Given the description of an element on the screen output the (x, y) to click on. 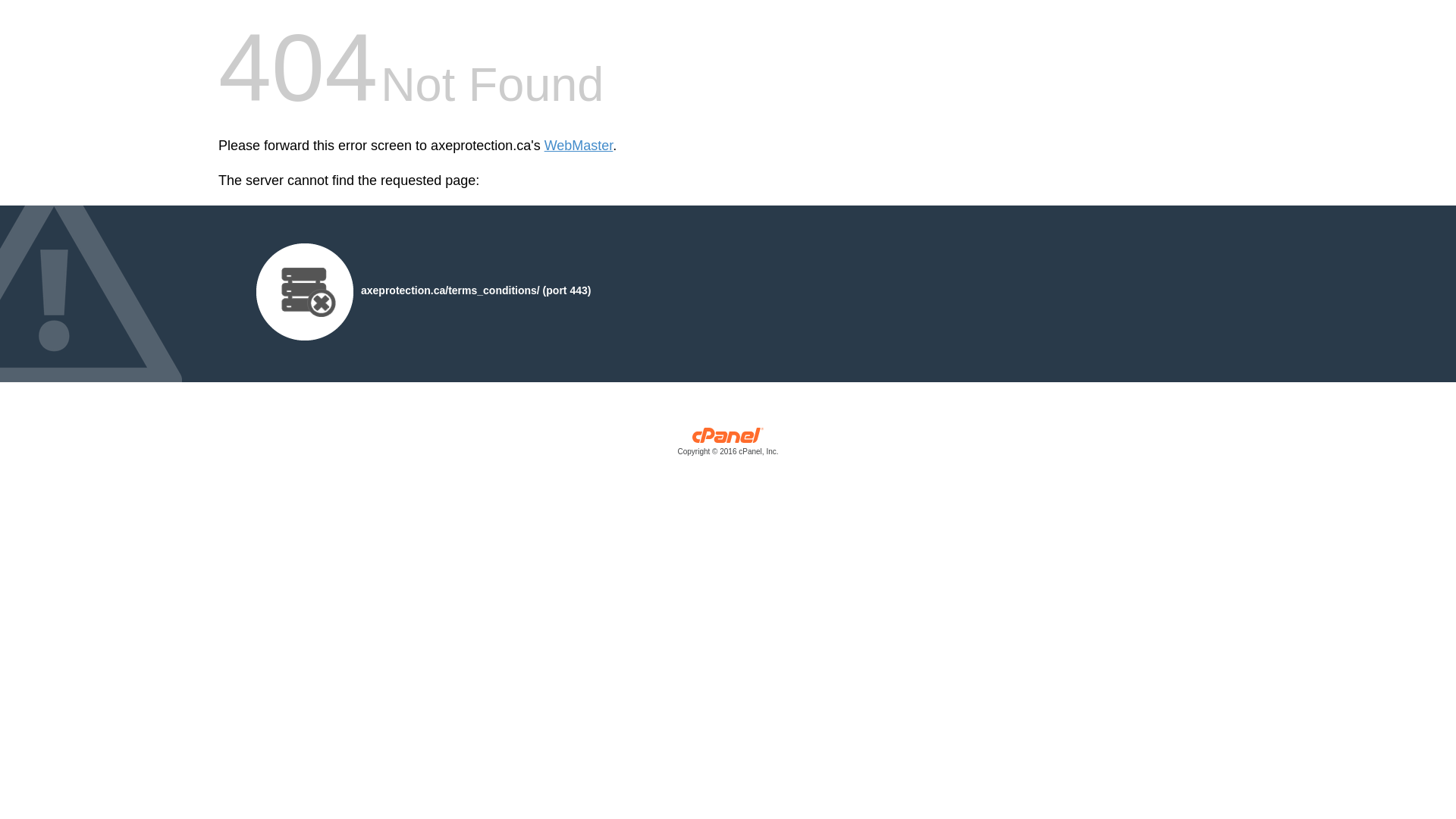
WebMaster Element type: text (578, 145)
